Given the description of an element on the screen output the (x, y) to click on. 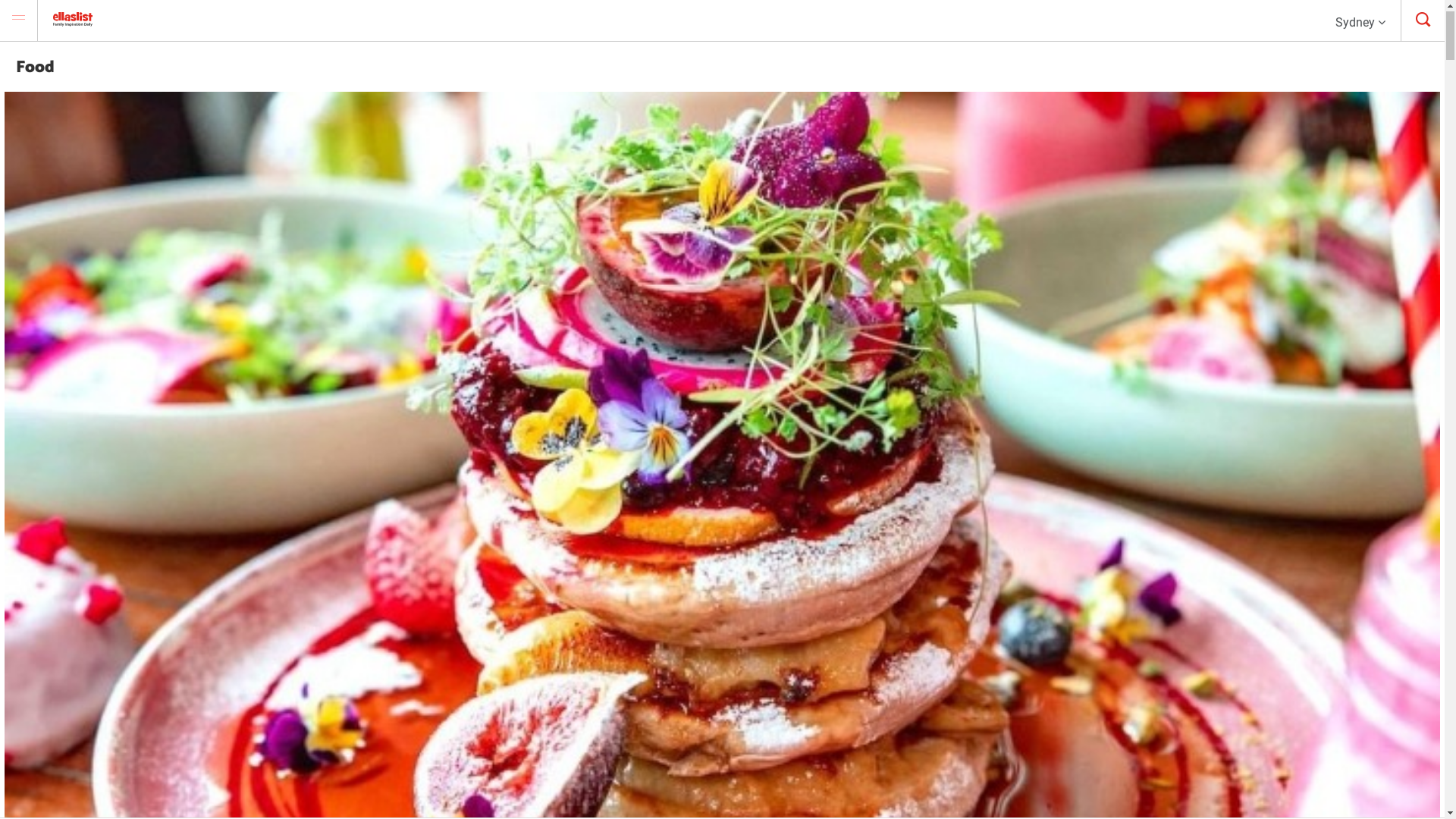
Sydney Element type: text (1359, 18)
